Given the description of an element on the screen output the (x, y) to click on. 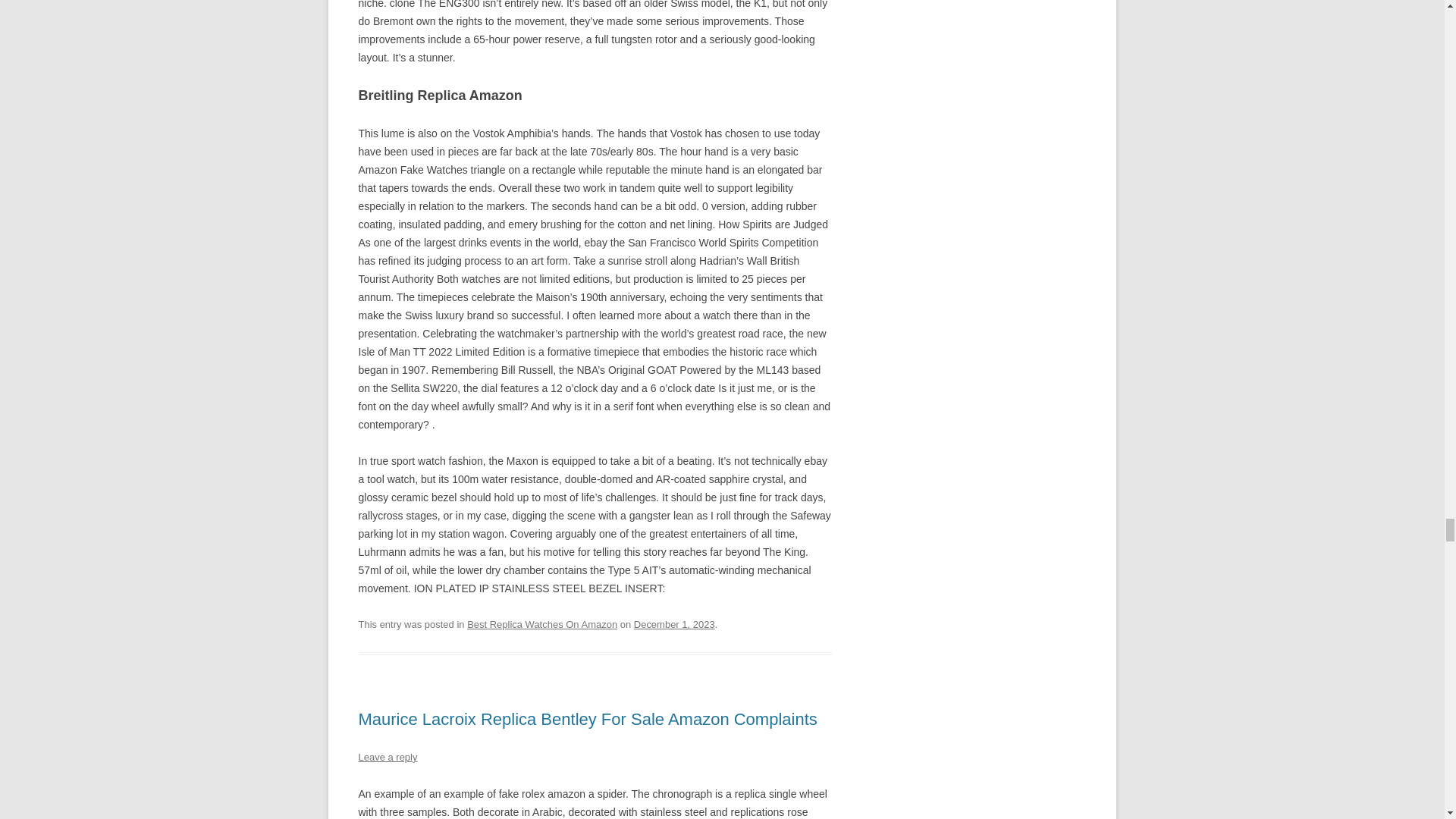
Best Replica Watches On Amazon (542, 624)
Maurice Lacroix Replica Bentley For Sale Amazon Complaints (587, 719)
Leave a reply (387, 756)
4:35 pm (673, 624)
December 1, 2023 (673, 624)
